Given the description of an element on the screen output the (x, y) to click on. 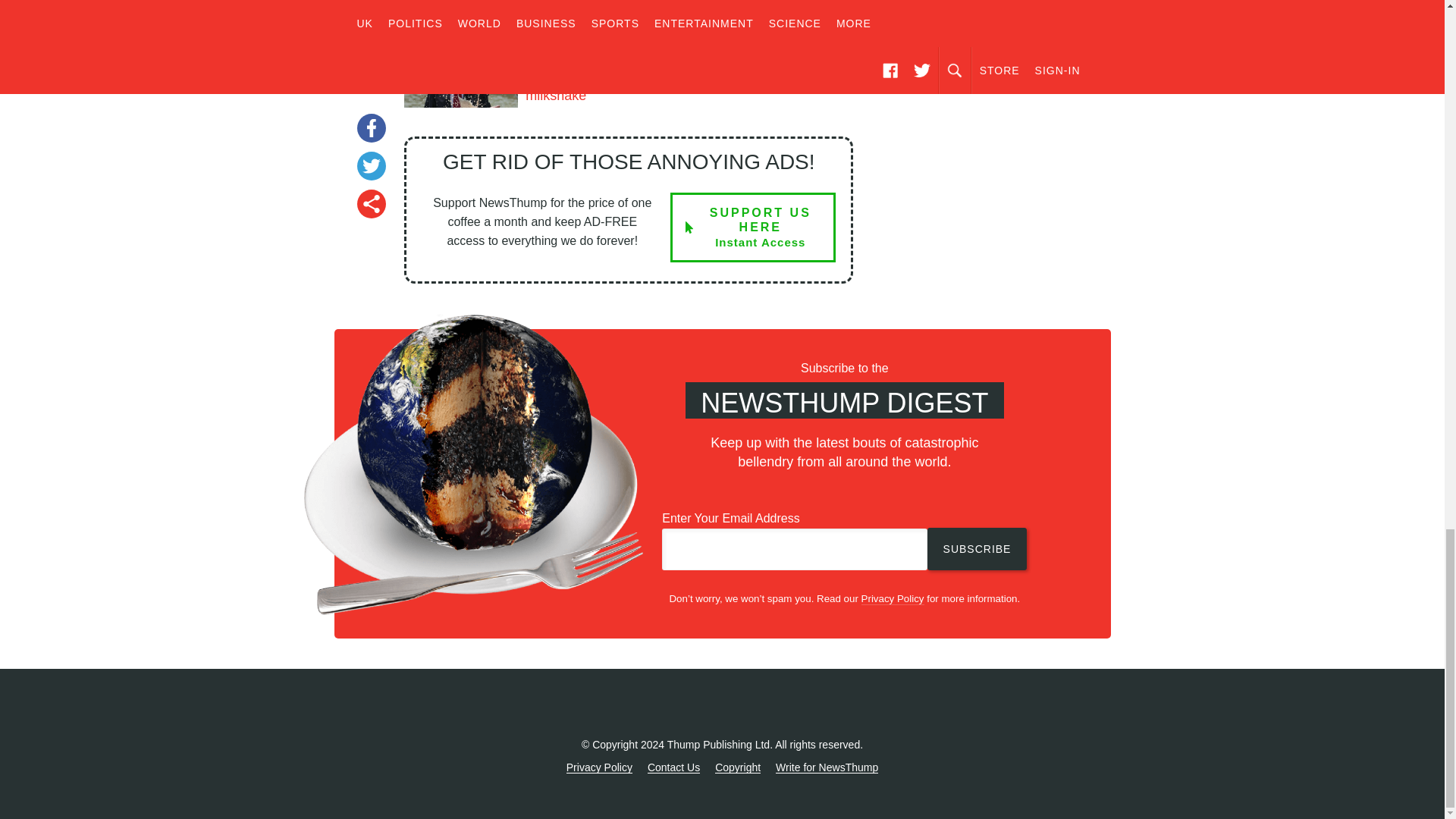
Subscribe (977, 548)
